Given the description of an element on the screen output the (x, y) to click on. 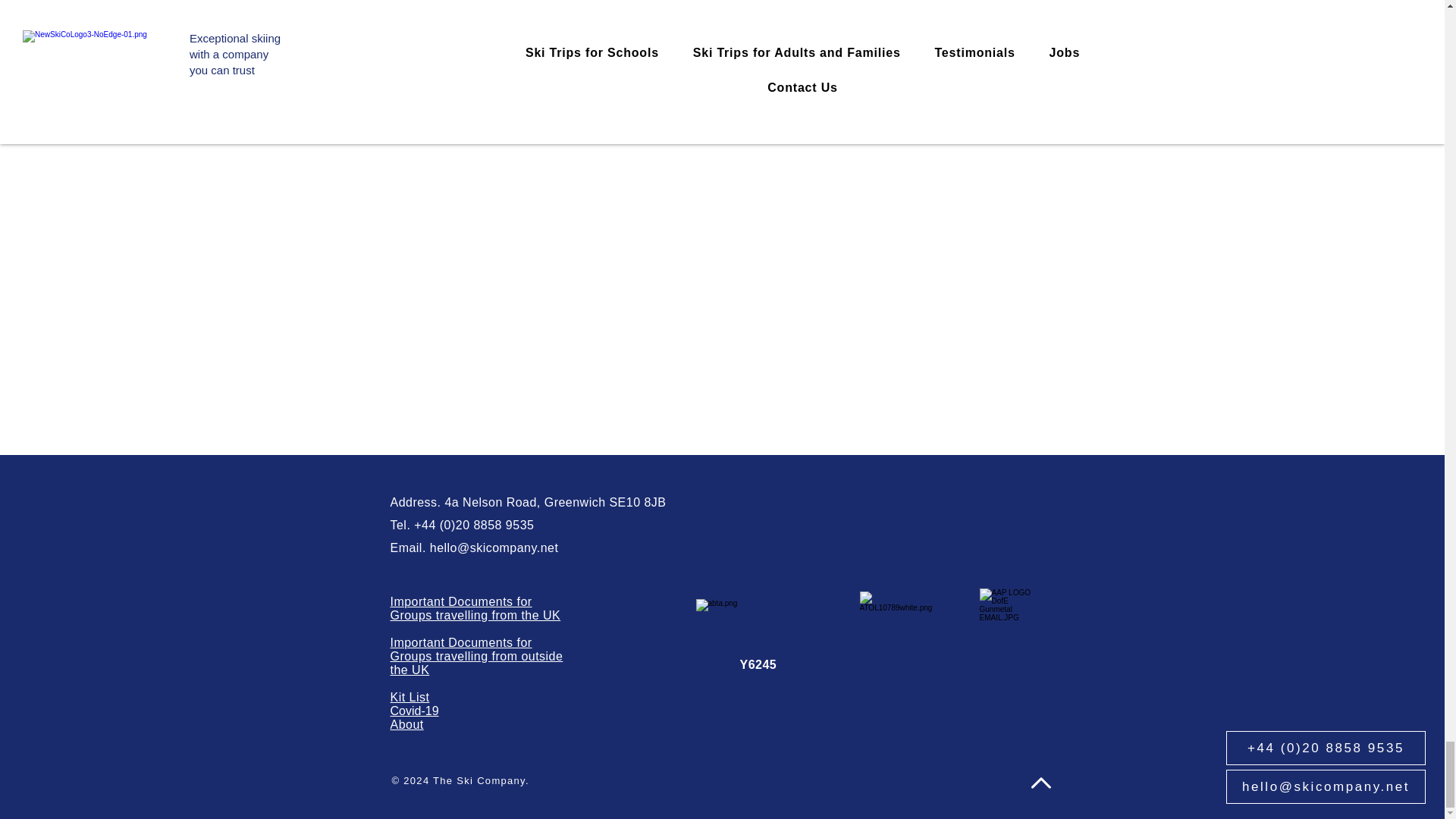
Kit List (409, 697)
Covid-19 (414, 710)
Important Documents for Groups travelling from the UK (475, 608)
About (406, 724)
